Given the description of an element on the screen output the (x, y) to click on. 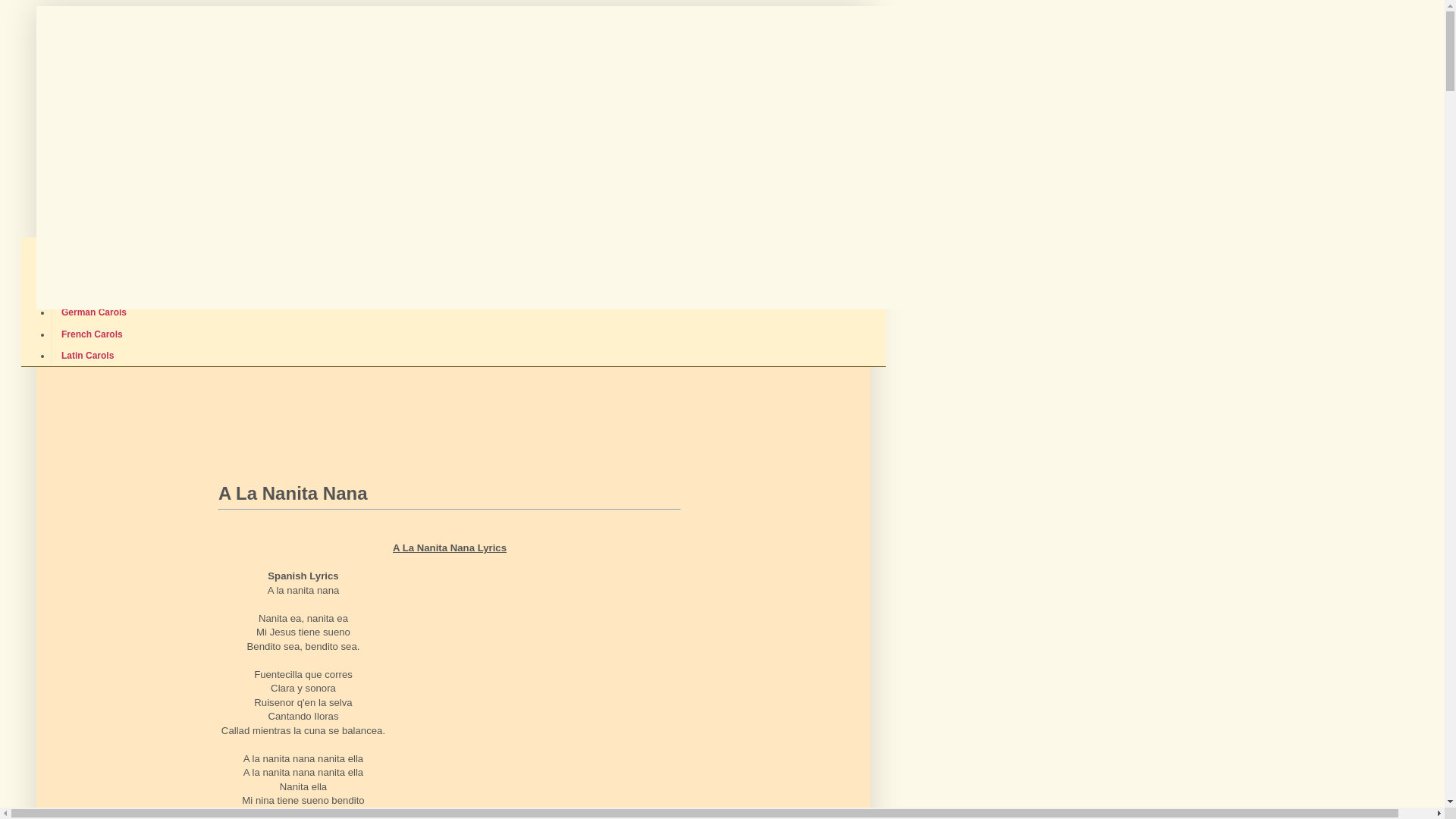
Spanish Carols Element type: text (93, 268)
SMS Element type: text (650, 209)
Festival Element type: text (689, 209)
Games Element type: text (789, 209)
Christmas Carols - Lyrics and History Element type: text (440, 86)
English Carols Element type: text (92, 247)
Advertisement Element type: hover (395, 519)
Tagalog Carols Element type: text (93, 290)
Printable Cards Element type: text (229, 209)
Home Element type: text (55, 209)
Wallpapers Element type: text (587, 209)
Christmas Home Element type: text (118, 209)
Gallery Element type: text (740, 209)
Advertisement Element type: hover (519, 689)
Email Element type: text (835, 209)
Latin Carols Element type: text (86, 355)
Christmas Messages Element type: text (346, 209)
French Carols Element type: text (91, 333)
German Carols Element type: text (93, 312)
Advertisement Element type: hover (319, 410)
Christmas Carols Element type: text (482, 209)
